Given the description of an element on the screen output the (x, y) to click on. 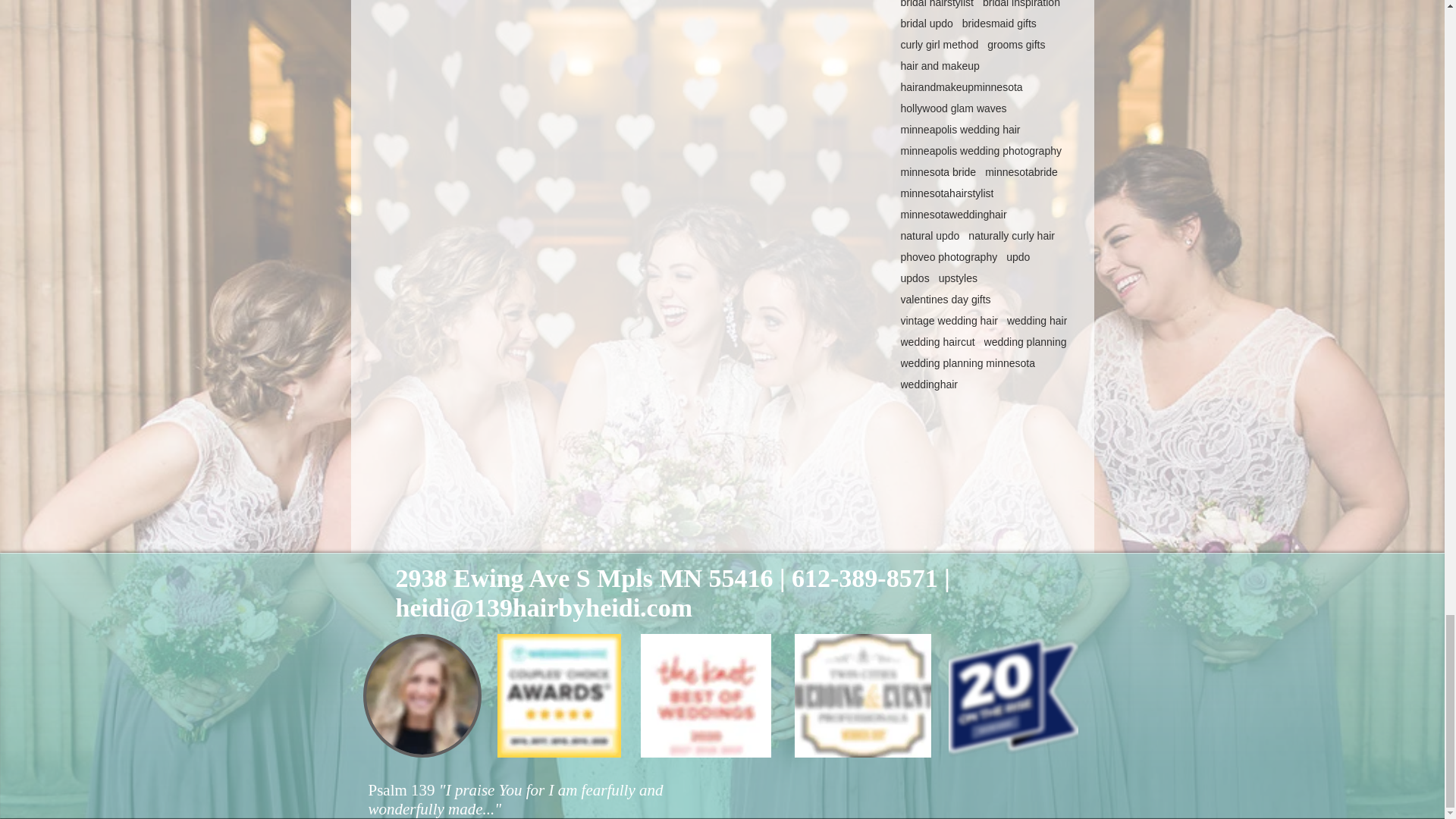
curly girl method (939, 44)
hairandmakeupminnesota (962, 87)
grooms gifts (1016, 44)
bridal inspiration (1020, 4)
minnesota bride (938, 172)
bridal updo (927, 23)
bridesmaid gifts (999, 23)
hair and makeup (940, 65)
minneapolis wedding hair (960, 129)
hollywood glam waves (954, 108)
